Given the description of an element on the screen output the (x, y) to click on. 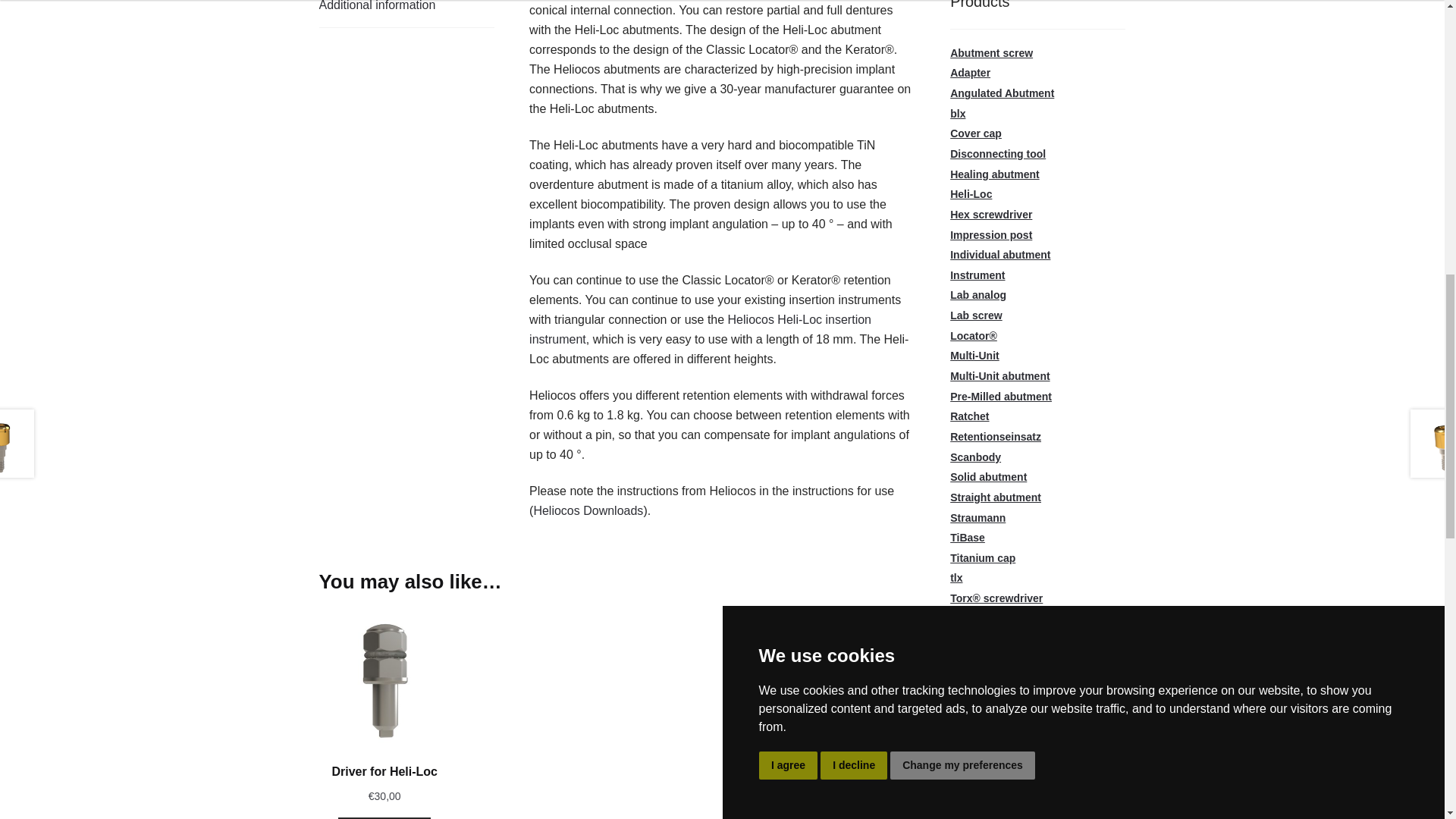
Heliocos Heli-Loc insertion instrument (699, 328)
Heliocos Downloads (587, 510)
Additional information (406, 13)
ADD TO CART (383, 818)
